Given the description of an element on the screen output the (x, y) to click on. 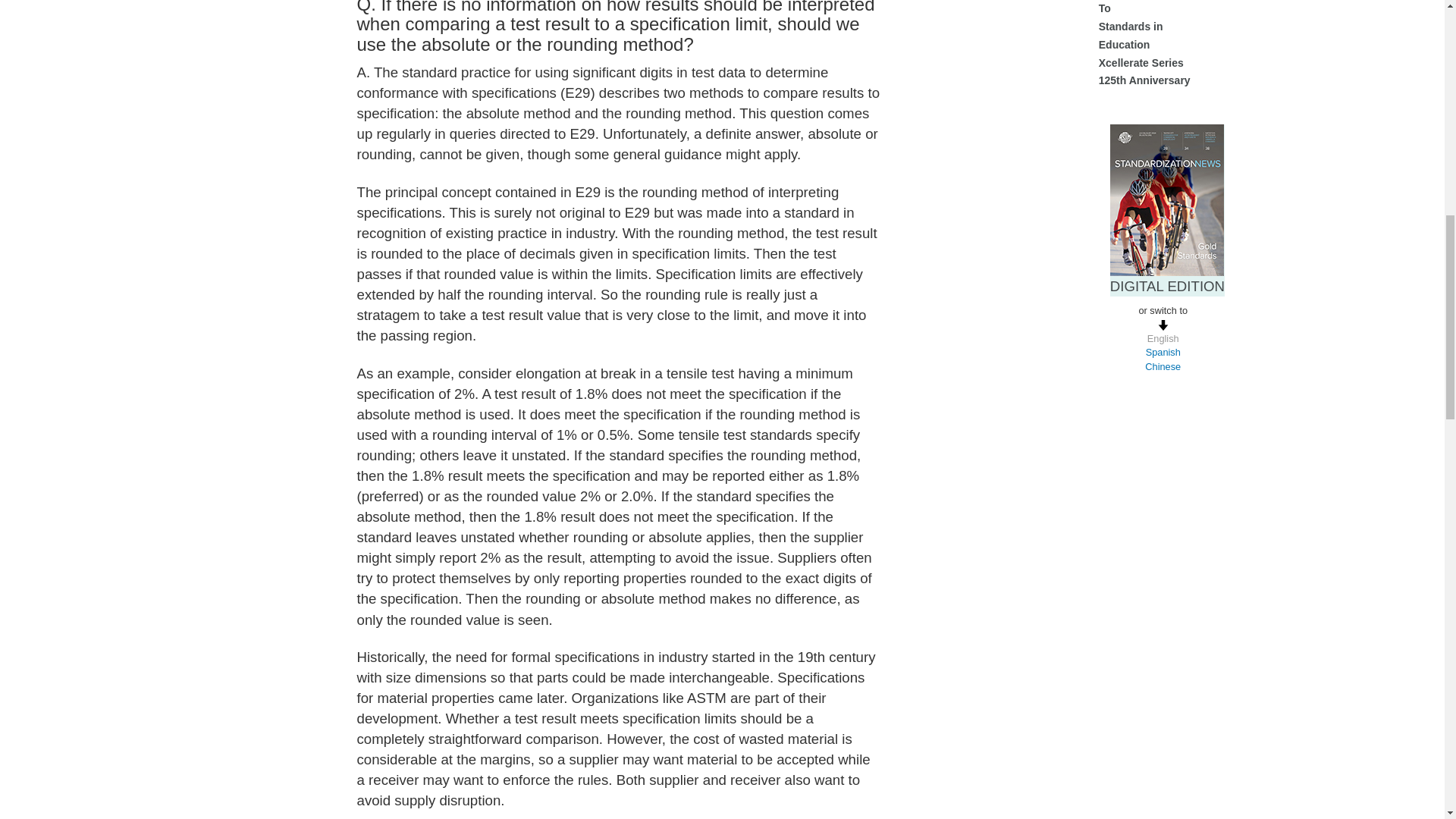
Standards in Education (1131, 35)
Standards Development How-To (1146, 7)
Spanish (1162, 351)
Xcellerate Series (1141, 62)
DIGITAL EDITION (1166, 286)
125th Anniversary (1145, 80)
